Given the description of an element on the screen output the (x, y) to click on. 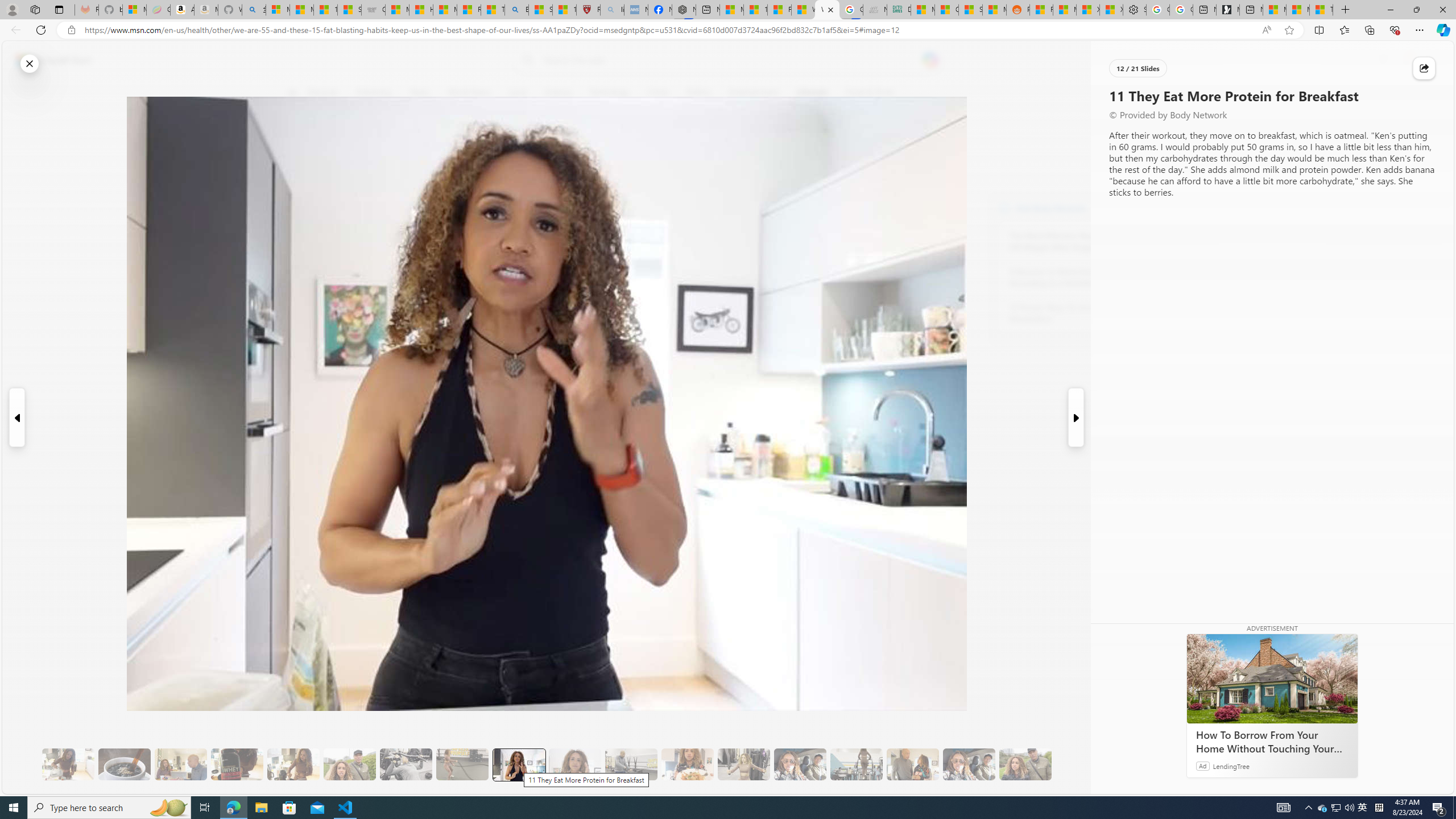
9 They Do Bench Exercises (406, 764)
These 3 Stocks Pay You More Than 5% to Own Them (1321, 9)
Share this story (1423, 67)
13 Her Husband Does Group Cardio Classs (631, 764)
8 Be Mindful of Coffee (124, 764)
How I Got Rid of Microsoft Edge's Unnecessary Features (421, 9)
